Given the description of an element on the screen output the (x, y) to click on. 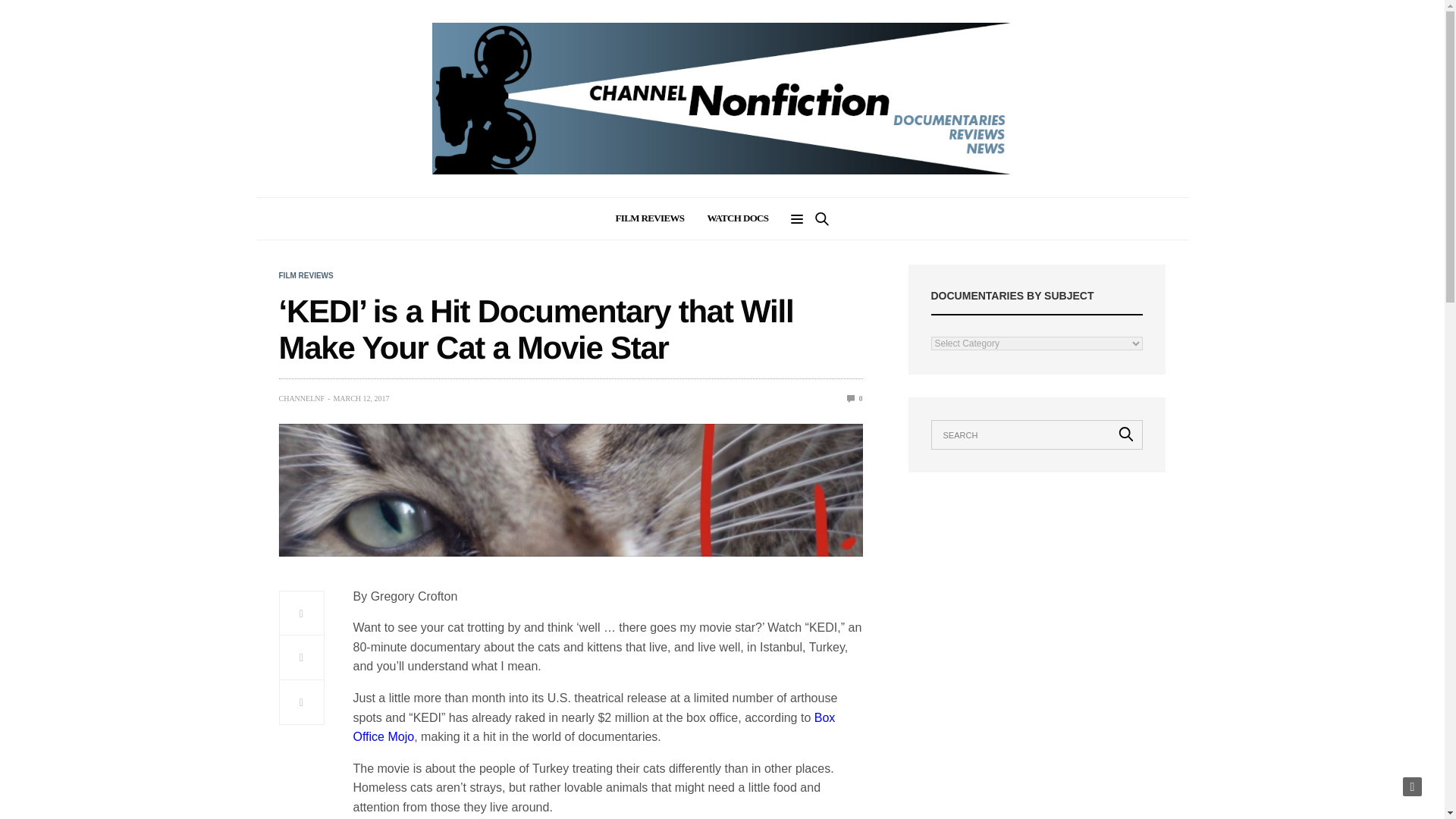
Search (800, 260)
Search (1125, 434)
FILM REVIEWS (649, 218)
WATCH DOCS (737, 218)
0 (855, 397)
FILM REVIEWS (306, 275)
Posts by ChannelNF (301, 398)
CHANNELNF (301, 398)
Film Reviews (306, 275)
Box Office Mojo (594, 727)
